Given the description of an element on the screen output the (x, y) to click on. 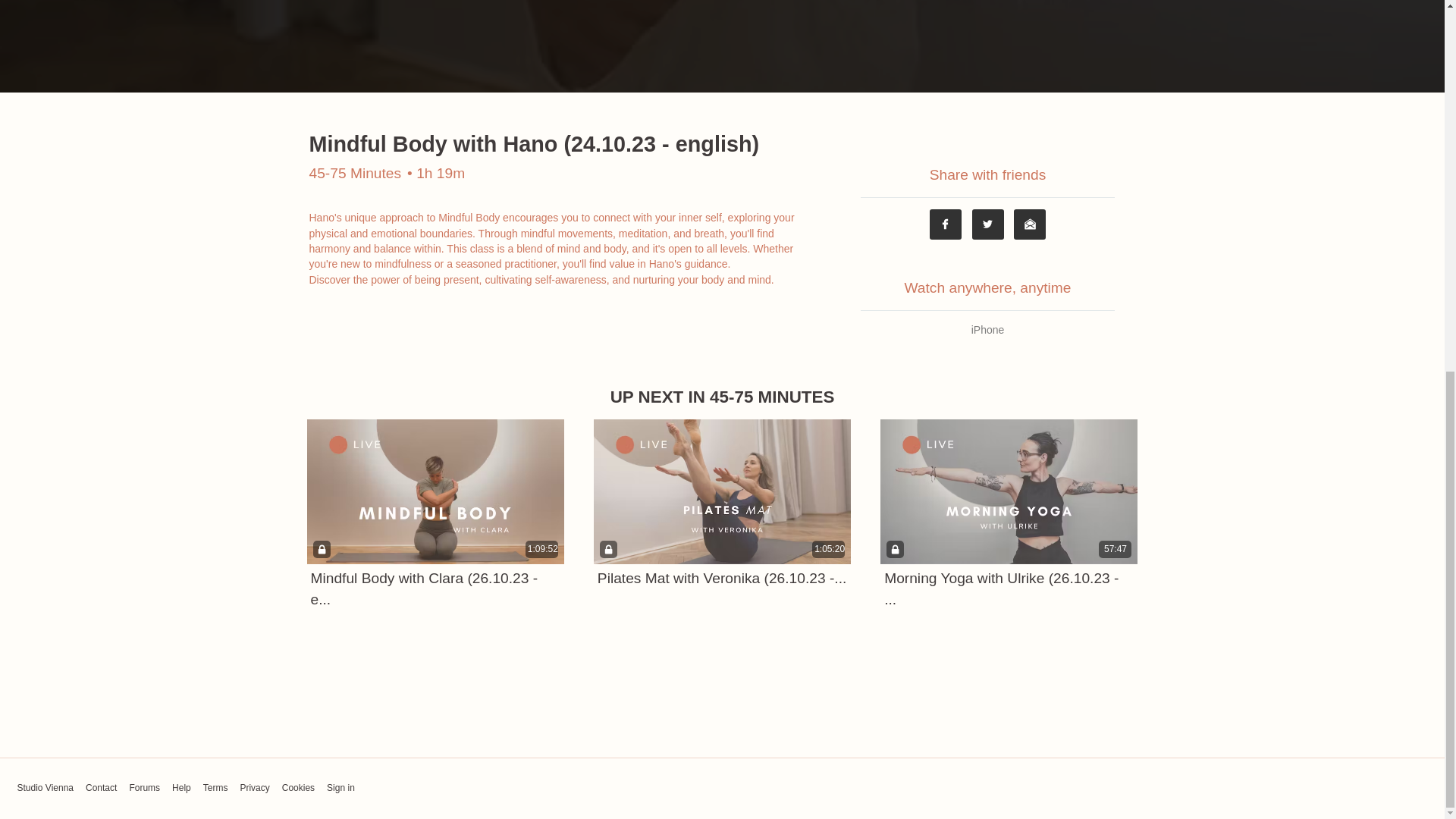
45-75 MINUTES (772, 396)
Email (1029, 224)
iPhone (988, 329)
Twitter (988, 224)
45-75 Minutes (354, 173)
Facebook (945, 224)
1:09:52 (434, 491)
